Given the description of an element on the screen output the (x, y) to click on. 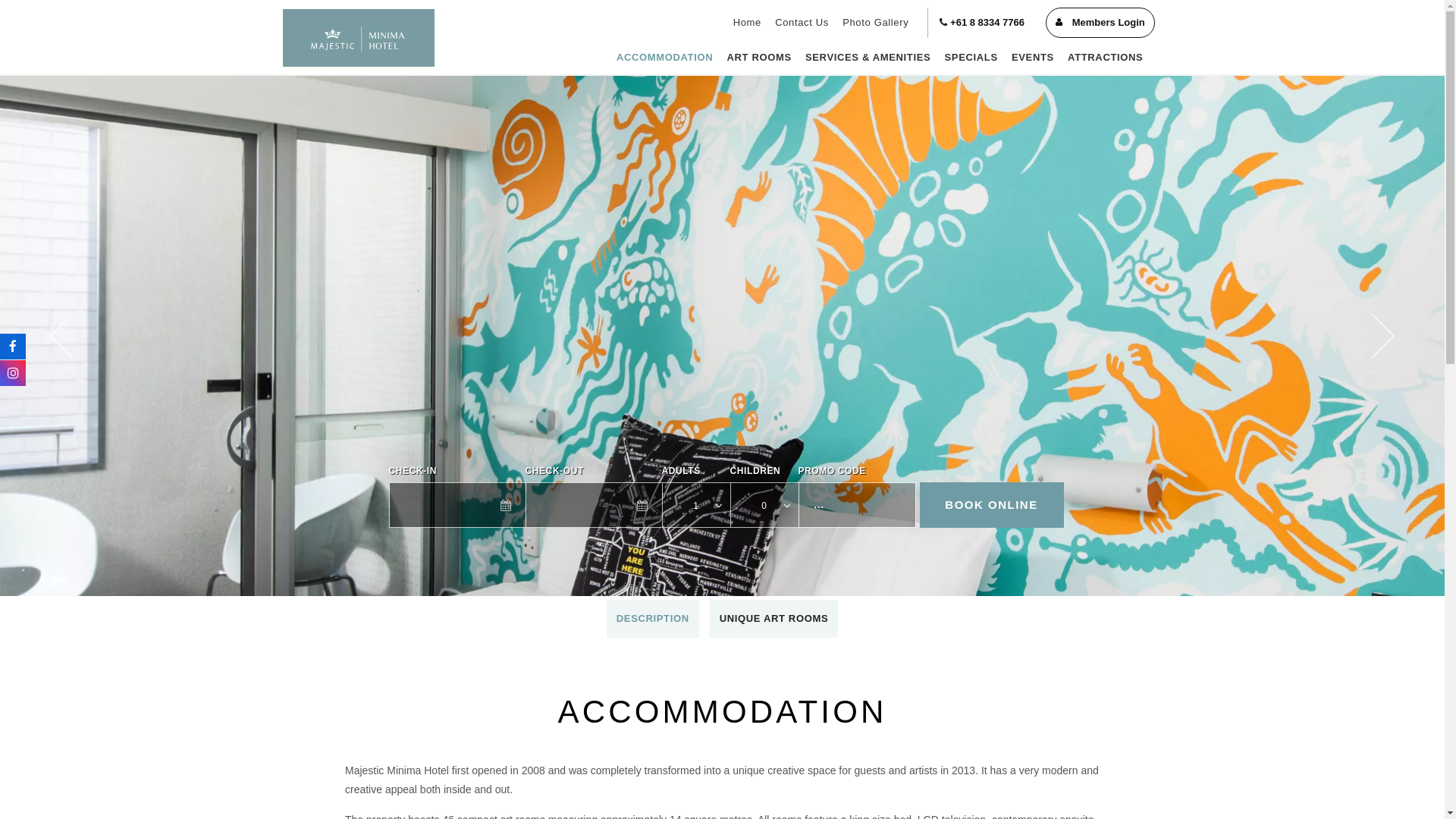
SPECIALS Element type: text (970, 57)
+61 8 8334 7766 Element type: text (981, 22)
ART ROOMS Element type: text (758, 57)
ATTRACTIONS Element type: text (1105, 57)
Contact Us Element type: text (801, 22)
ACCOMMODATION Element type: text (664, 57)
Home Element type: text (747, 22)
Members Login Element type: text (1099, 22)
SERVICES & AMENITIES Element type: text (868, 57)
UNIQUE ART ROOMS Element type: text (773, 618)
EVENTS Element type: text (1032, 57)
Photo Gallery Element type: text (875, 22)
DESCRIPTION Element type: text (652, 618)
